Given the description of an element on the screen output the (x, y) to click on. 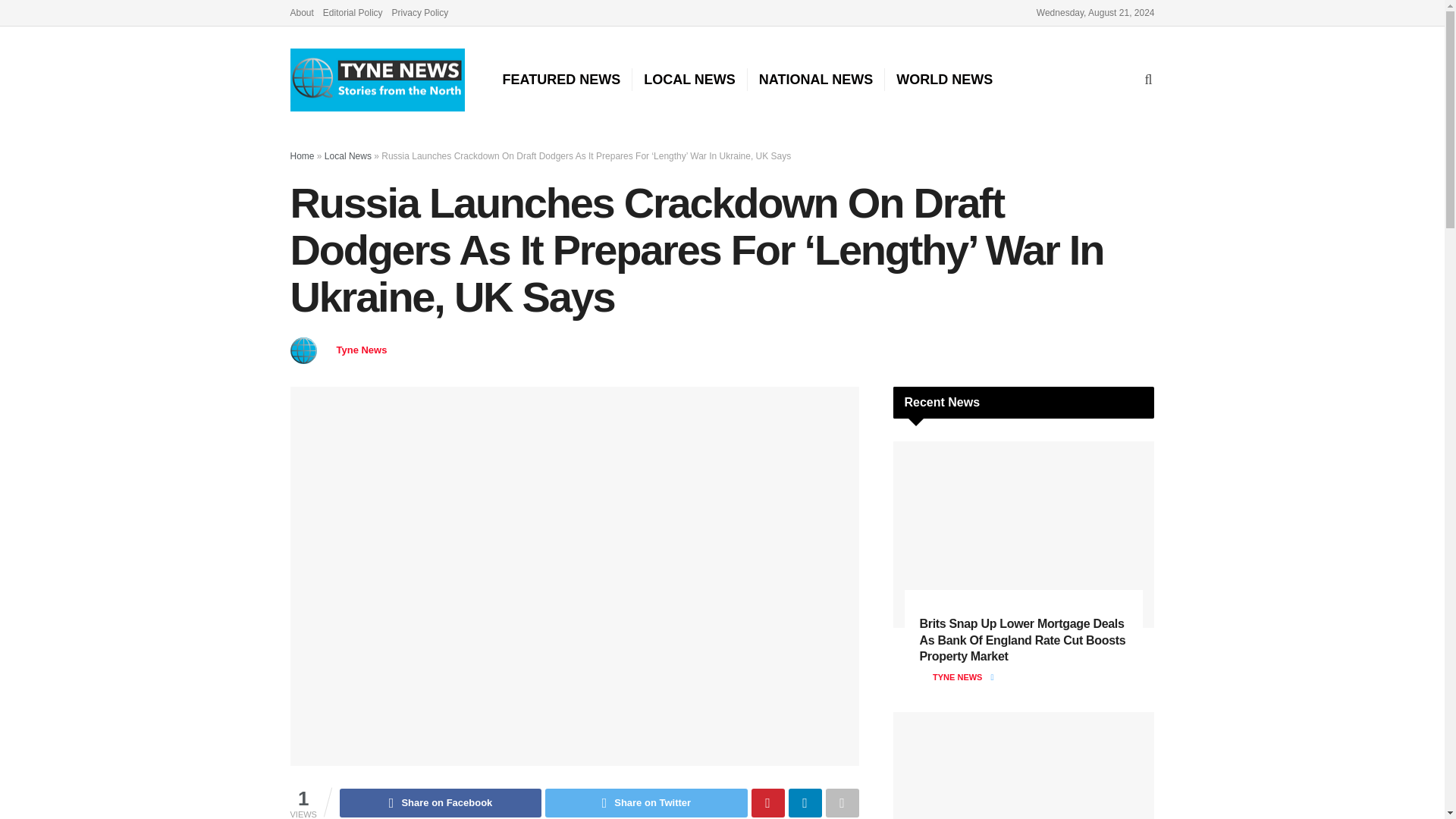
Privacy Policy (419, 12)
Tyne News (361, 349)
Editorial Policy (352, 12)
About (301, 12)
Share on Facebook (440, 802)
Share on Twitter (645, 802)
FEATURED NEWS (561, 78)
Home (301, 155)
April 16, 2023 (443, 349)
WORLD NEWS (944, 78)
